Given the description of an element on the screen output the (x, y) to click on. 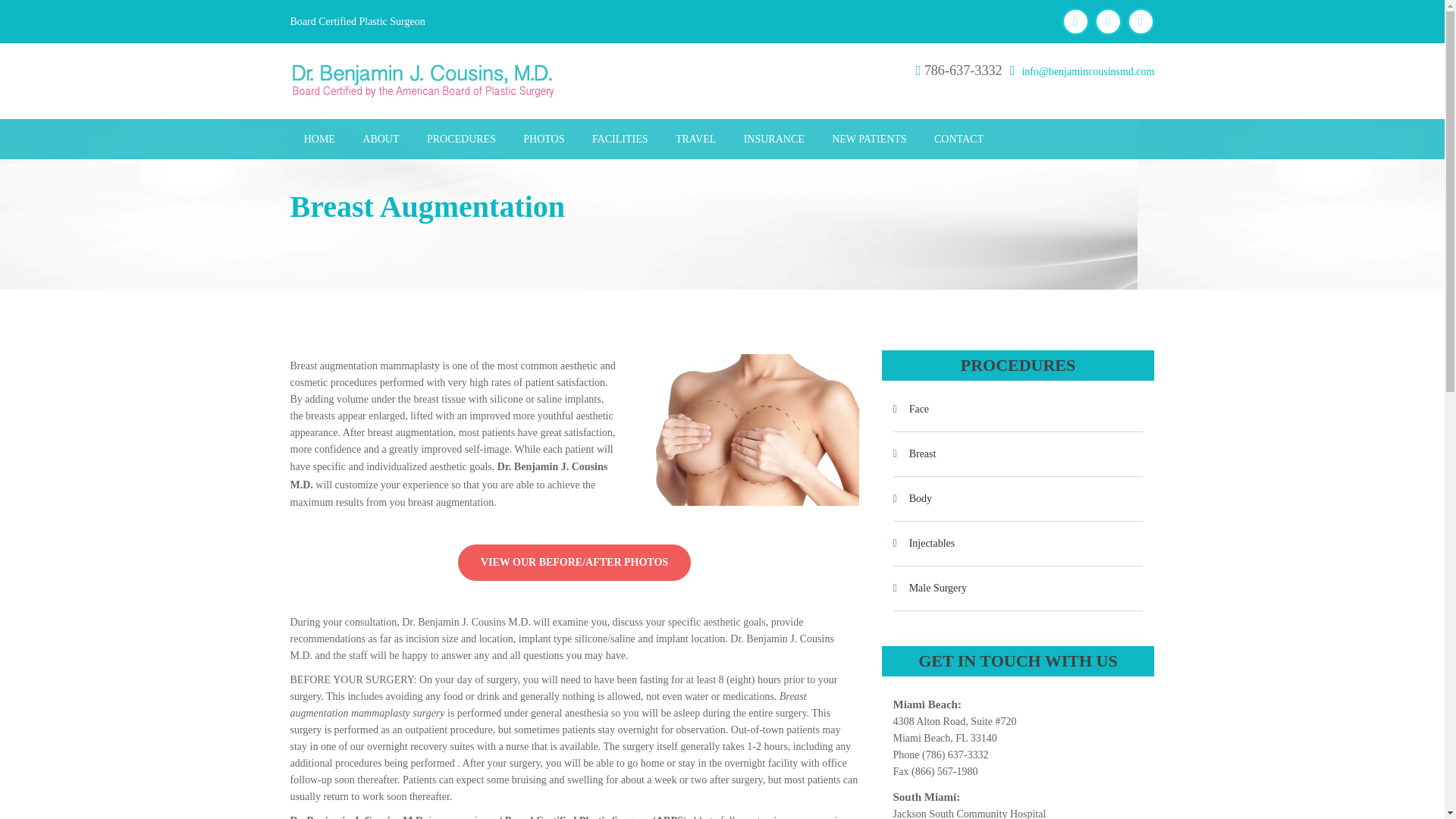
Submit Request (721, 155)
YouTube (1107, 21)
ABOUT (381, 138)
PROCEDURES (461, 138)
Facebook (1075, 21)
Board Certified Plastic Surgeon (357, 22)
Instagram (1140, 21)
HOME (319, 138)
